Given the description of an element on the screen output the (x, y) to click on. 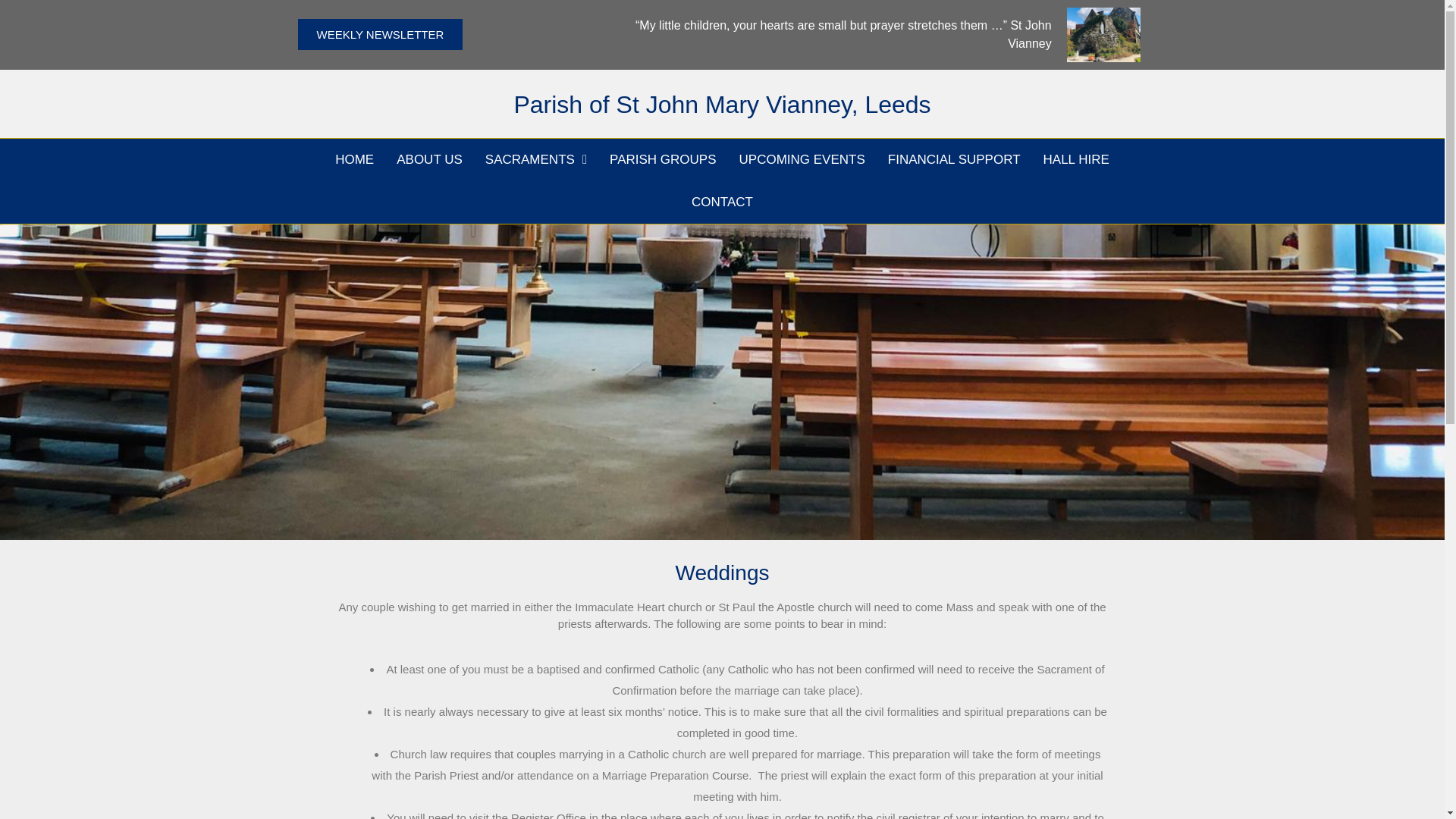
CONTACT (721, 201)
ABOUT US (429, 159)
HALL HIRE (1076, 159)
SACRAMENTS (536, 159)
Parish of St John Mary Vianney, Leeds (721, 103)
HOME (354, 159)
PARISH GROUPS (662, 159)
WEEKLY NEWSLETTER (380, 33)
FINANCIAL SUPPORT (954, 159)
UPCOMING EVENTS (802, 159)
